Given the description of an element on the screen output the (x, y) to click on. 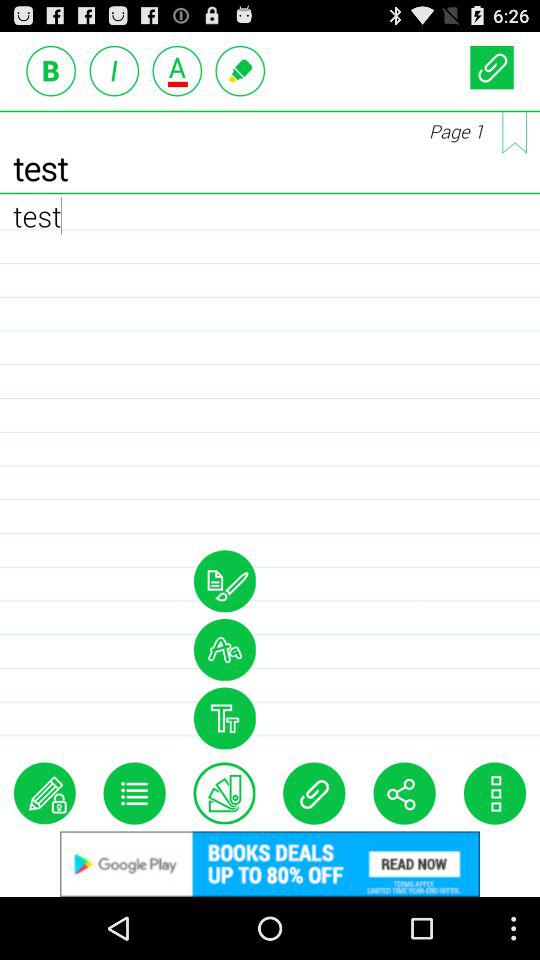
create multiple notebooks for every subject and avoid messing up your notes (514, 132)
